Given the description of an element on the screen output the (x, y) to click on. 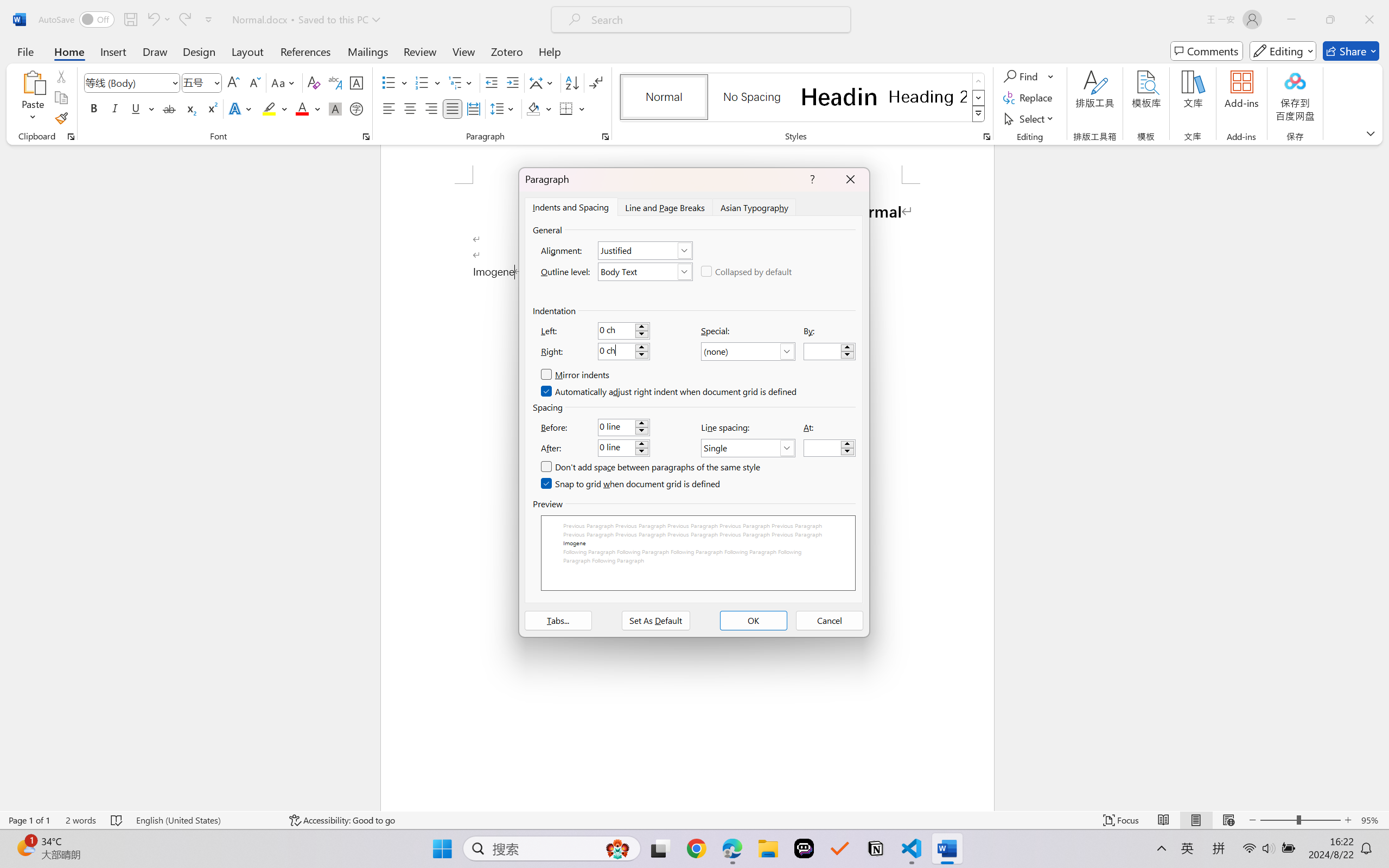
Multilevel List (461, 82)
Notion (875, 848)
Font Color RGB(255, 0, 0) (302, 108)
Microsoft search (715, 19)
Enclose Characters... (356, 108)
Text Highlight Color Yellow (269, 108)
Before: (623, 426)
Special: (748, 351)
